Given the description of an element on the screen output the (x, y) to click on. 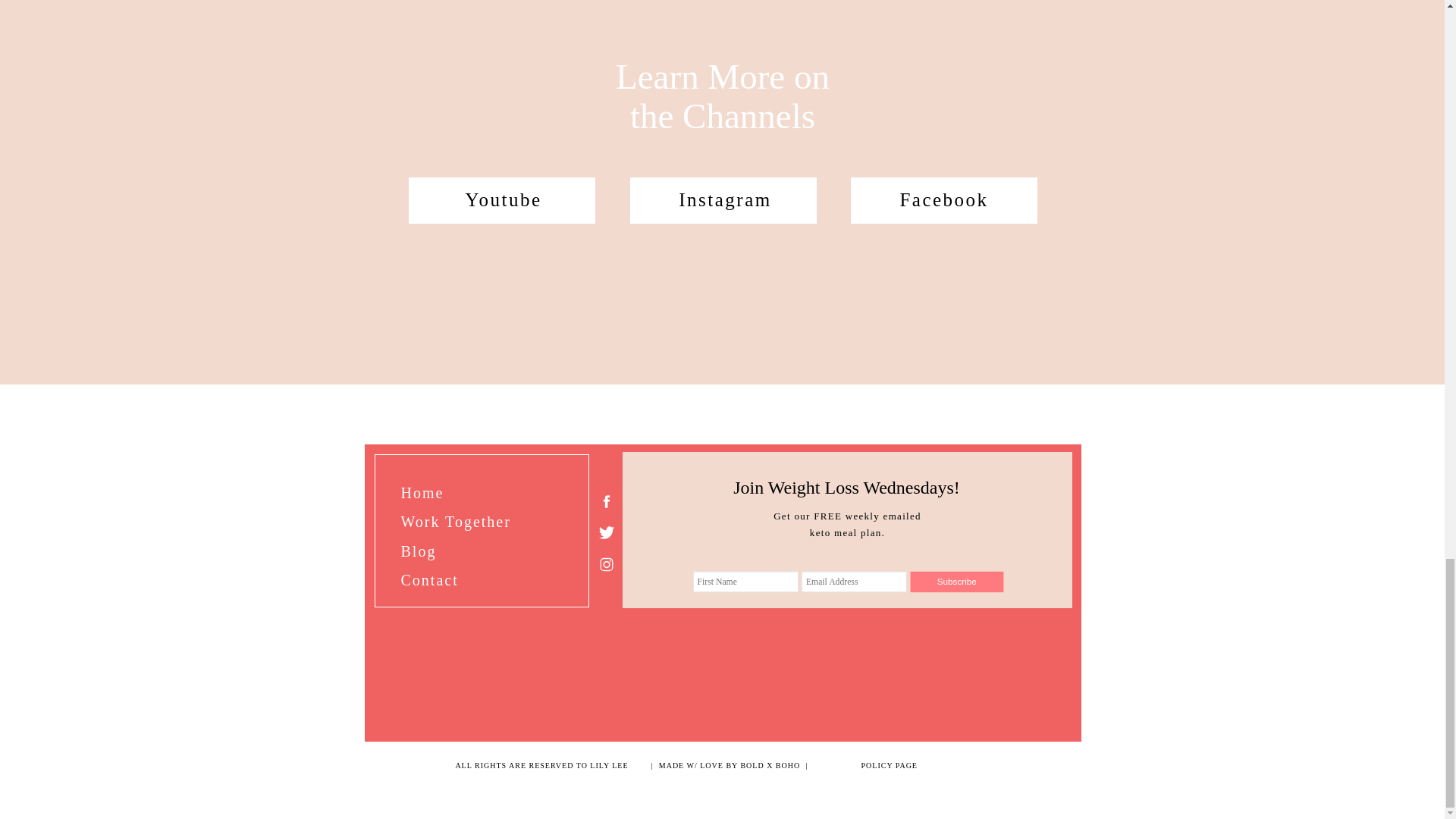
POLICY PAGE  (890, 773)
Subscribe (981, 587)
Blog (443, 549)
Facebook (943, 206)
Contact (435, 578)
Youtube (502, 206)
Work Together (457, 520)
Home (424, 491)
Instagram (724, 206)
